Given the description of an element on the screen output the (x, y) to click on. 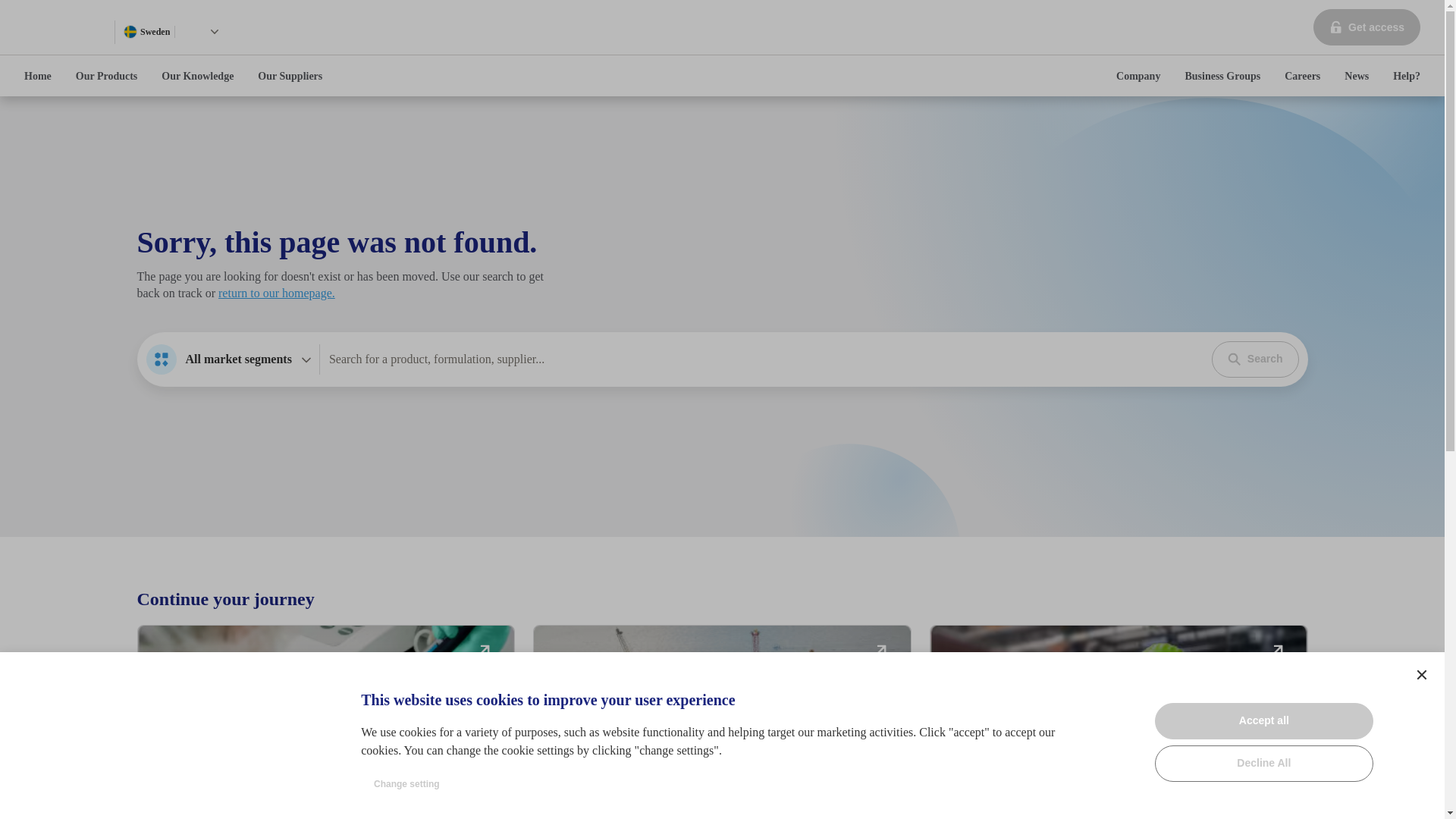
Get access (1367, 27)
Browse our Knowledge (963, 795)
Our Suppliers (290, 76)
Home (228, 358)
Open Dropdown (37, 76)
Careers (214, 31)
Browse our Product (1302, 76)
all (1276, 649)
Browse our Product (160, 358)
Company (483, 649)
News (1118, 721)
Our Products (1137, 76)
return to our homepage. (1356, 76)
